Given the description of an element on the screen output the (x, y) to click on. 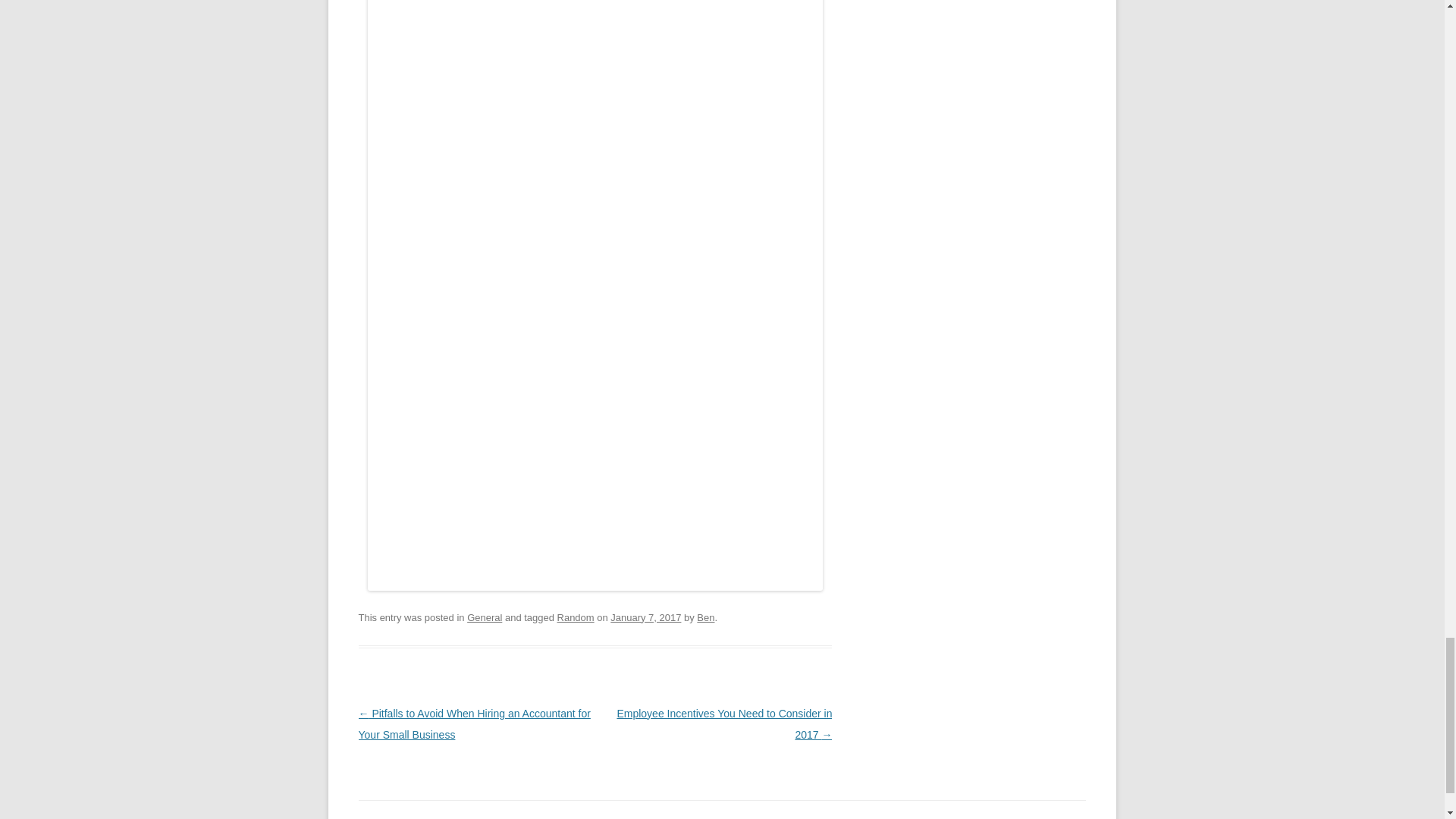
General (484, 617)
Ben (705, 617)
January 7, 2017 (645, 617)
Random (575, 617)
View all posts by Ben (705, 617)
7:32 am (645, 617)
